Given the description of an element on the screen output the (x, y) to click on. 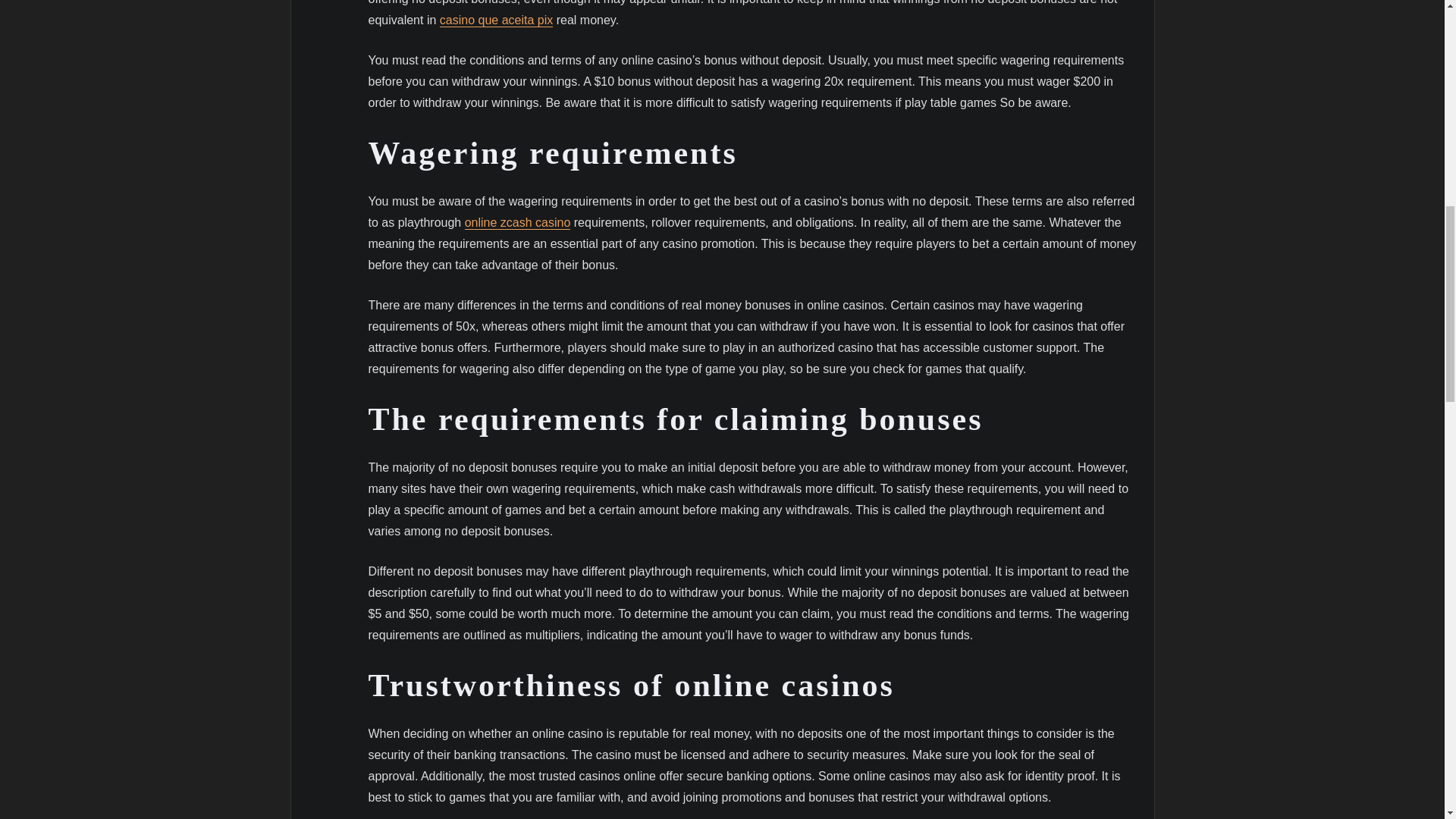
casino que aceita pix (496, 19)
online zcash casino (517, 222)
